Given the description of an element on the screen output the (x, y) to click on. 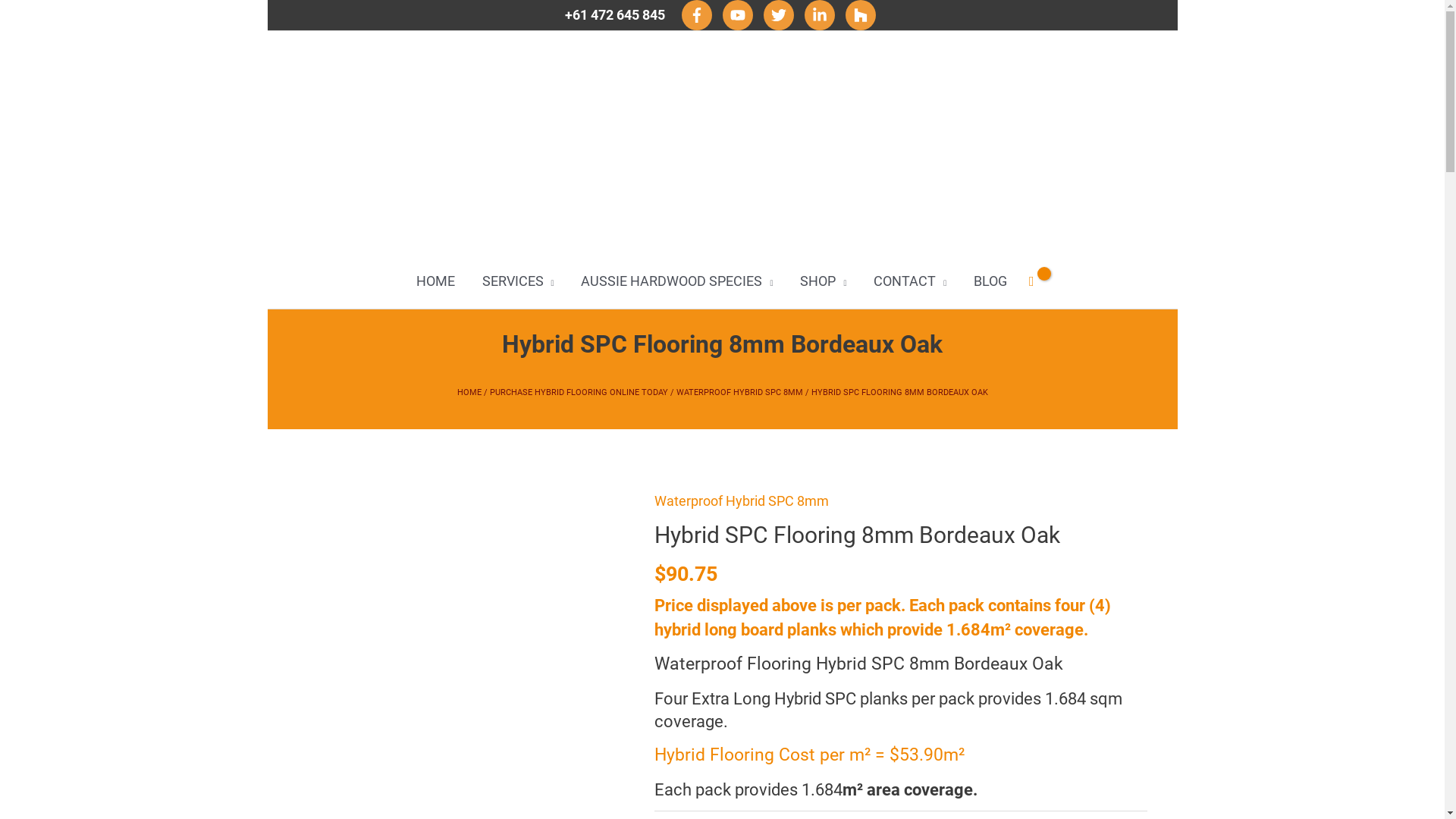
WATERPROOF HYBRID SPC 8MM Element type: text (739, 392)
HOME Element type: text (468, 392)
+61 472 645 845  Element type: text (616, 14)
HOME Element type: text (434, 280)
Waterproof Hybrid SPC 8mm Element type: text (741, 500)
SHOP Element type: text (822, 280)
SERVICES Element type: text (517, 280)
AUSSIE HARDWOOD SPECIES Element type: text (676, 280)
PURCHASE HYBRID FLOORING ONLINE TODAY Element type: text (578, 392)
CONTACT Element type: text (909, 280)
BLOG Element type: text (990, 280)
